Given the description of an element on the screen output the (x, y) to click on. 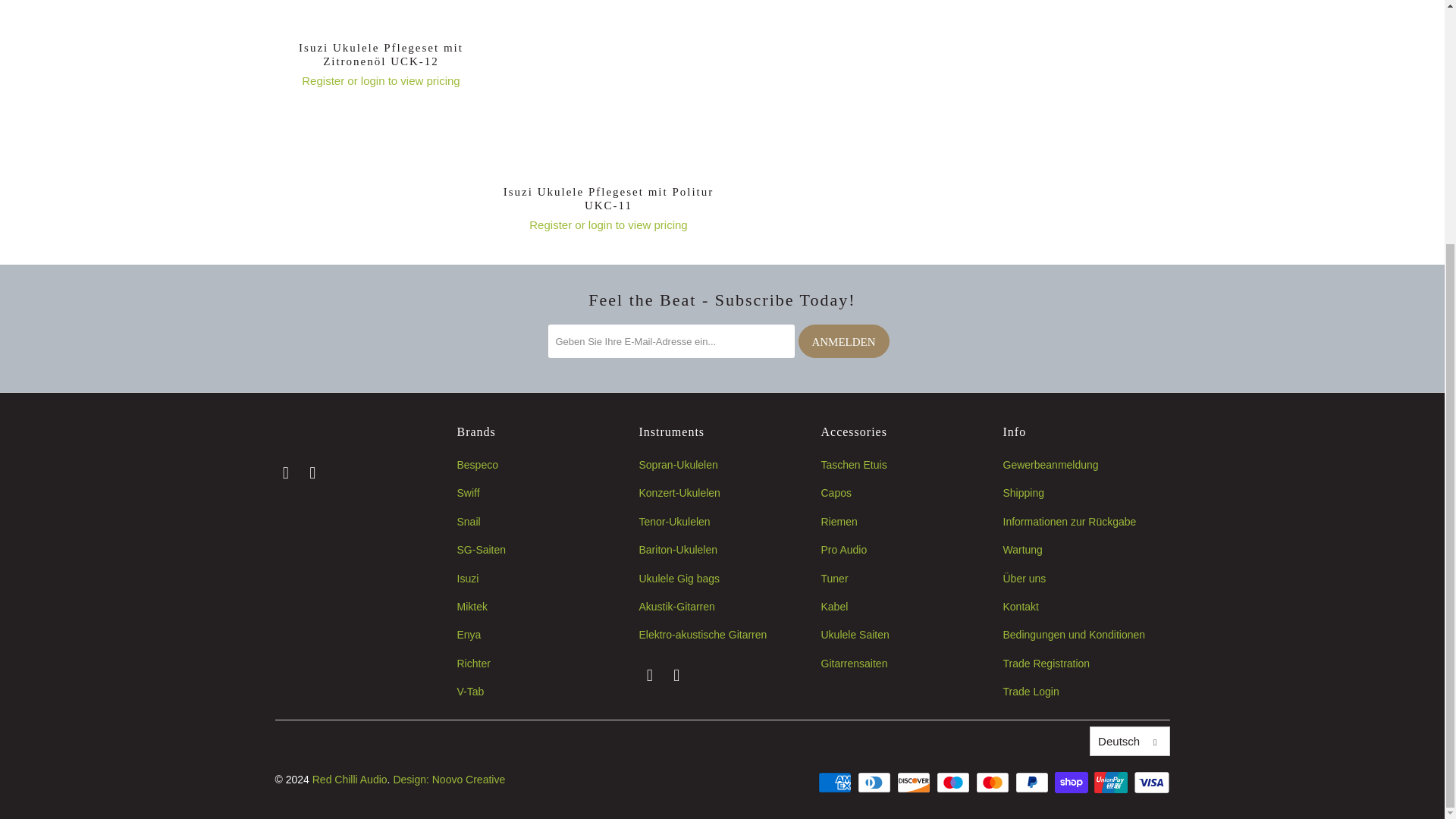
Red Chilli Audio  on Facebook (286, 473)
Red Chilli Audio  on YouTube (676, 675)
Maestro (954, 782)
Anmelden (842, 340)
Red Chilli Audio  on YouTube (312, 473)
Diners Club (875, 782)
Discover (914, 782)
Mastercard (993, 782)
American Express (836, 782)
Shop Pay (1072, 782)
Red Chilli Audio  on Facebook (650, 675)
PayPal (1032, 782)
Visa (1150, 782)
Union Pay (1112, 782)
